Given the description of an element on the screen output the (x, y) to click on. 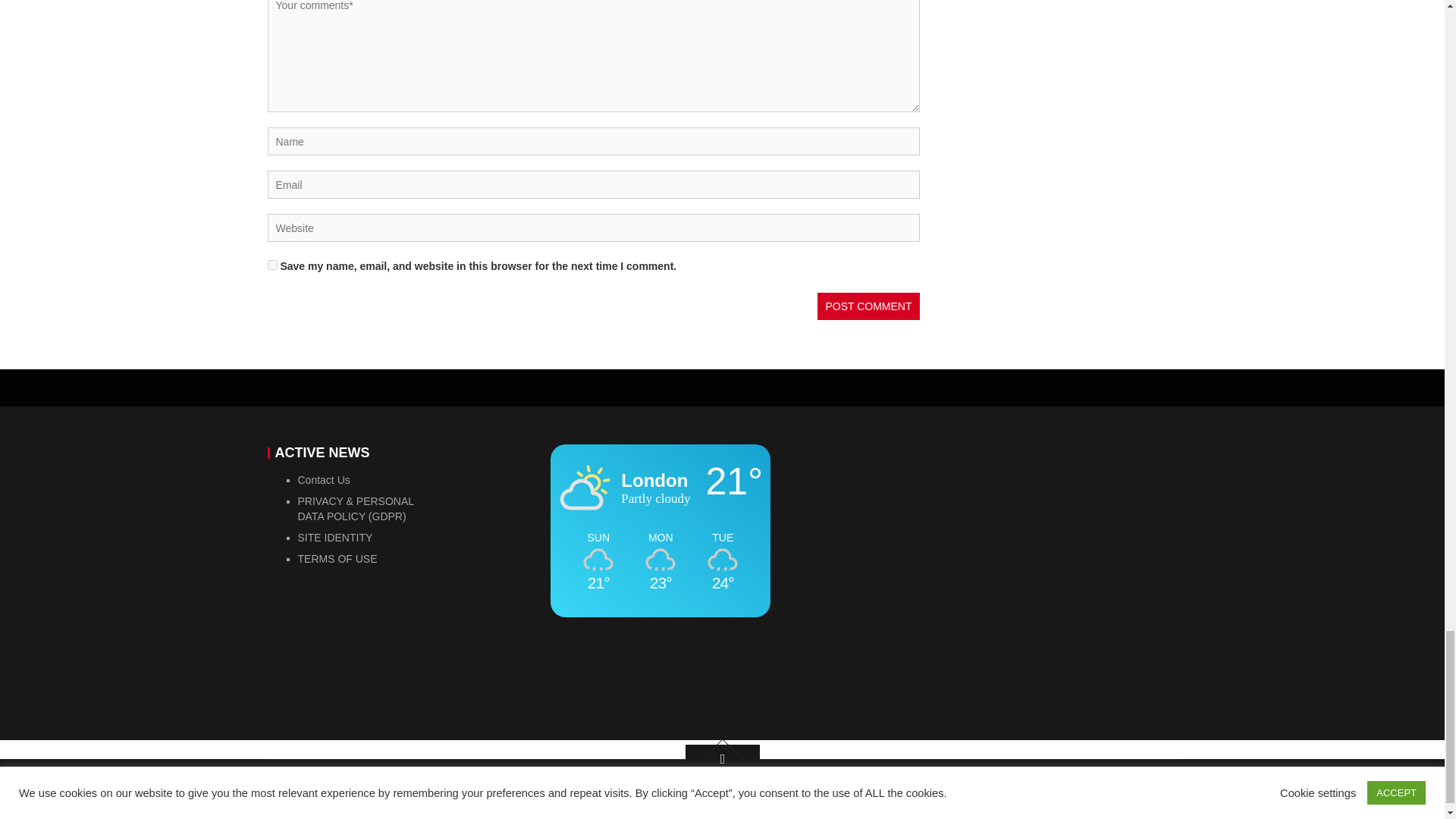
yes (271, 265)
Post Comment (867, 306)
